Given the description of an element on the screen output the (x, y) to click on. 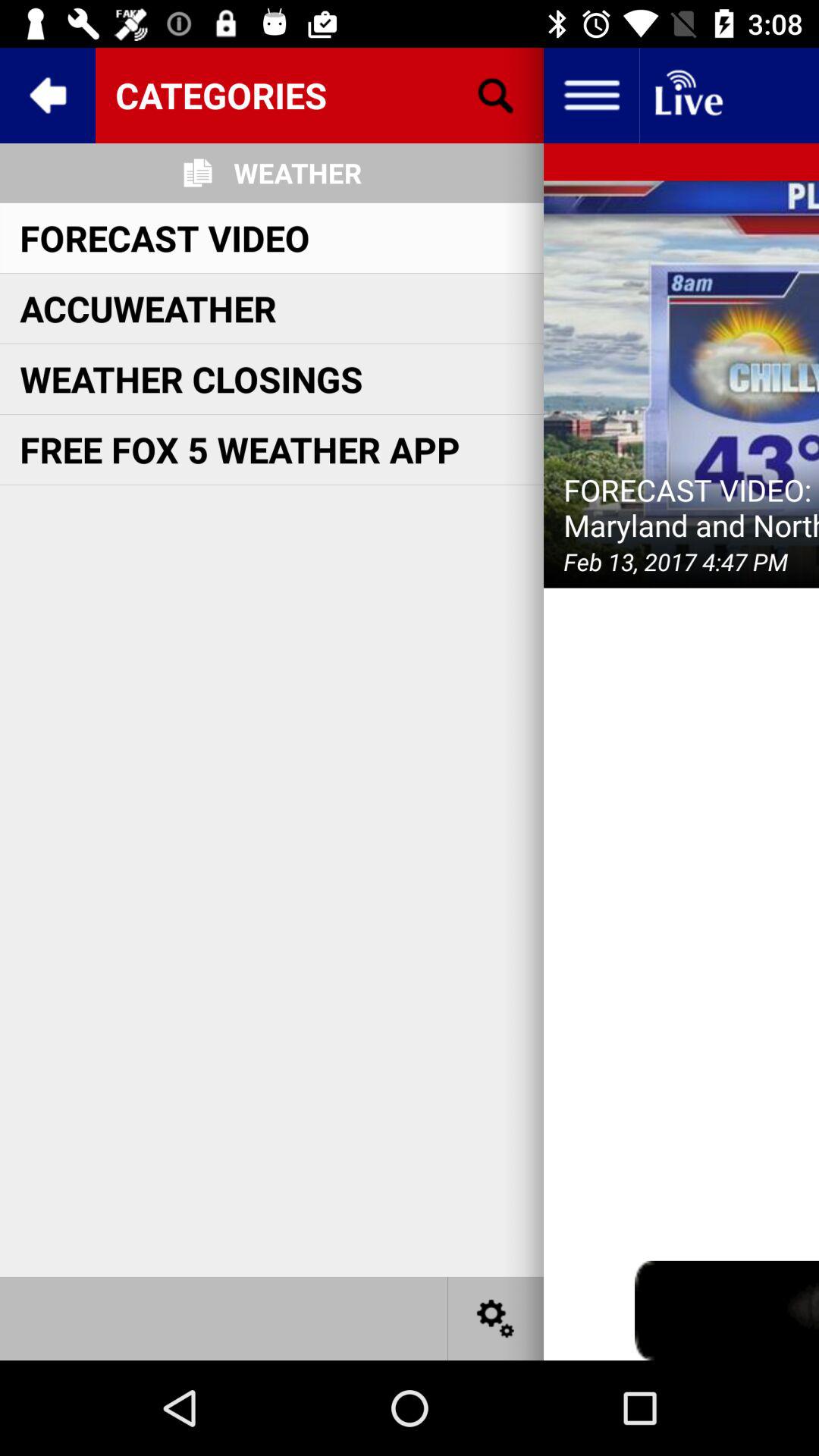
select icon below the accuweather item (190, 378)
